Given the description of an element on the screen output the (x, y) to click on. 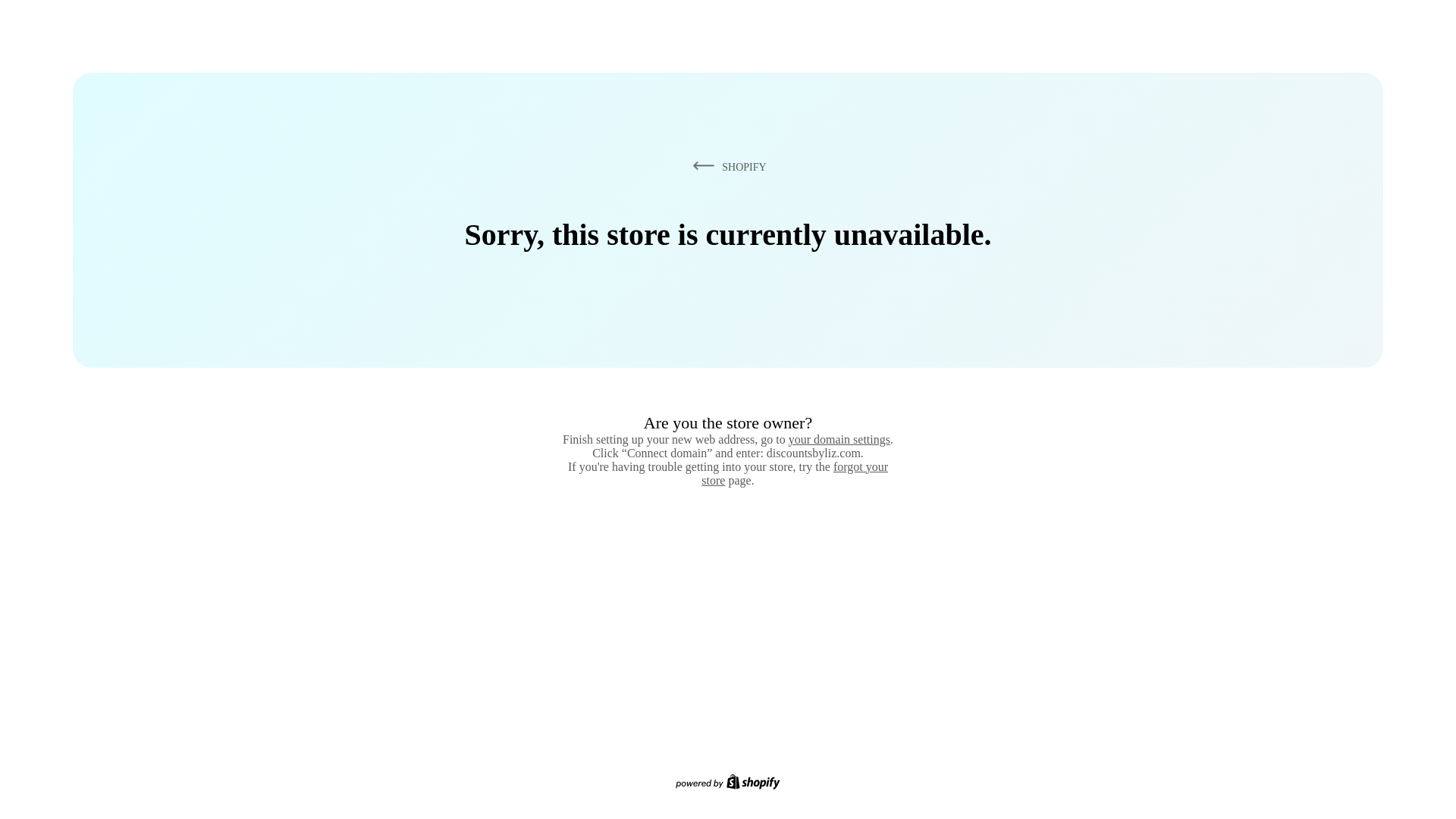
forgot your store (794, 473)
SHOPIFY (726, 166)
your domain settings (839, 439)
